Given the description of an element on the screen output the (x, y) to click on. 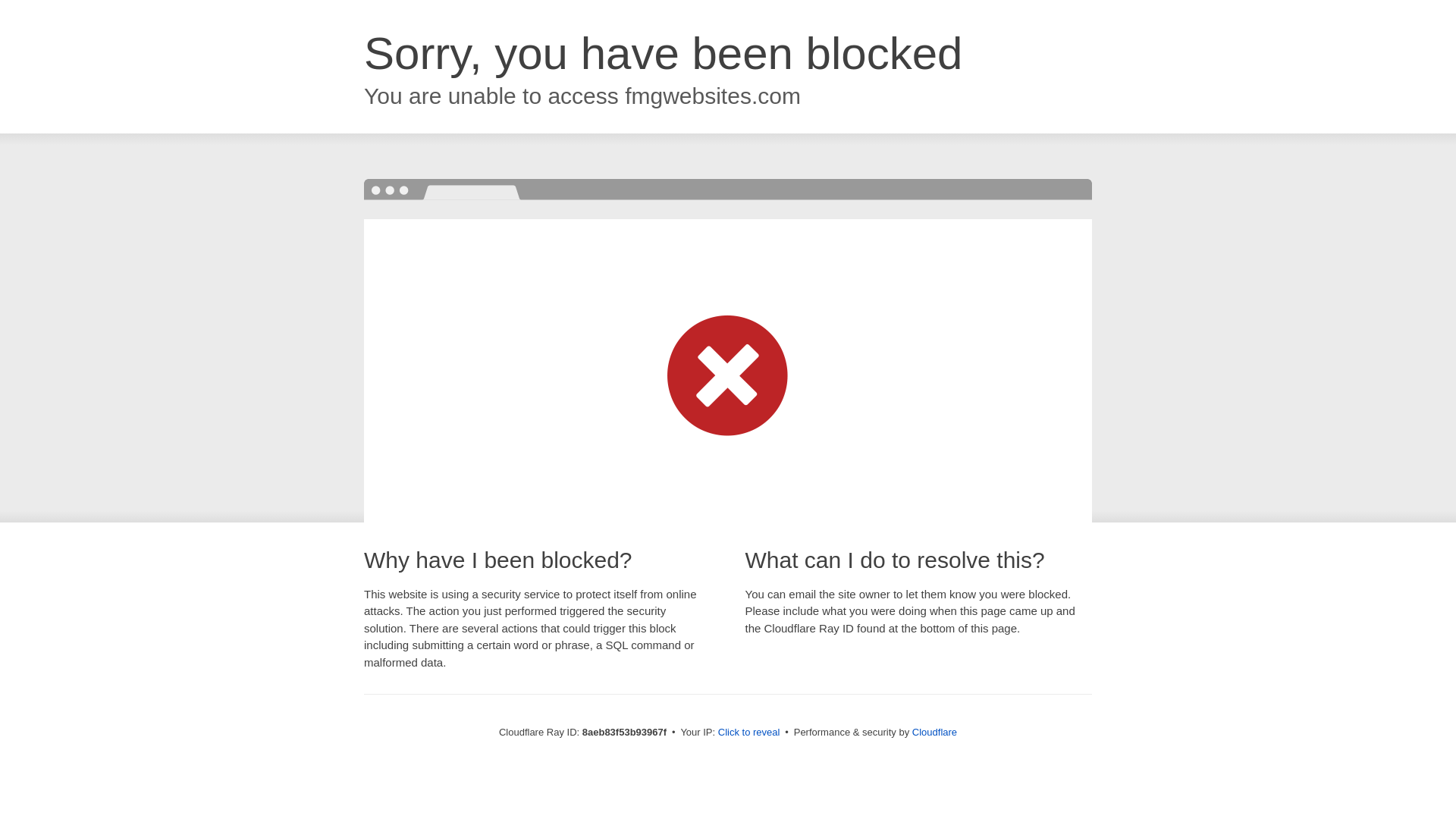
Click to reveal (748, 732)
Cloudflare (934, 731)
